Given the description of an element on the screen output the (x, y) to click on. 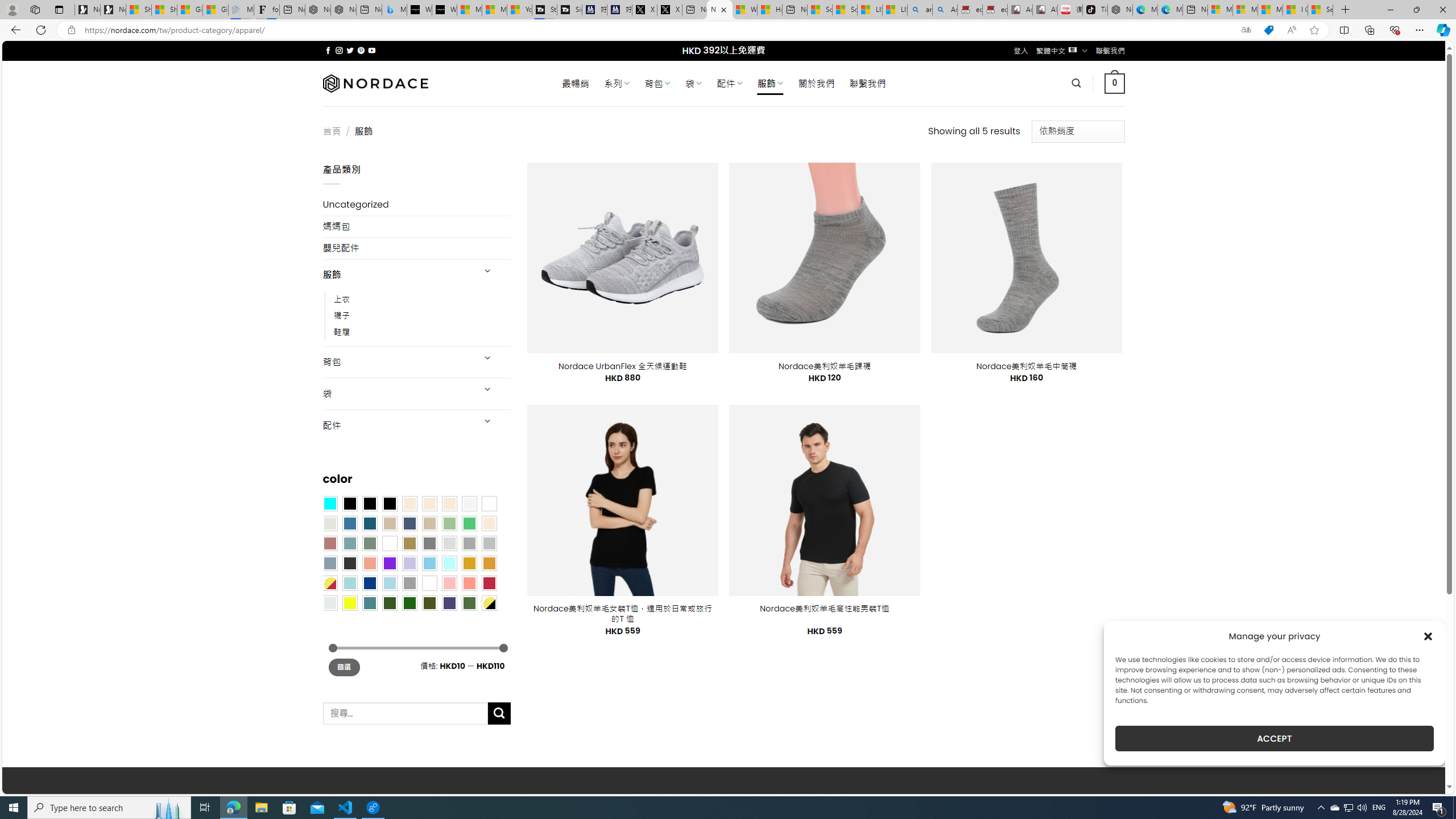
Follow on Twitter (349, 50)
